Given the description of an element on the screen output the (x, y) to click on. 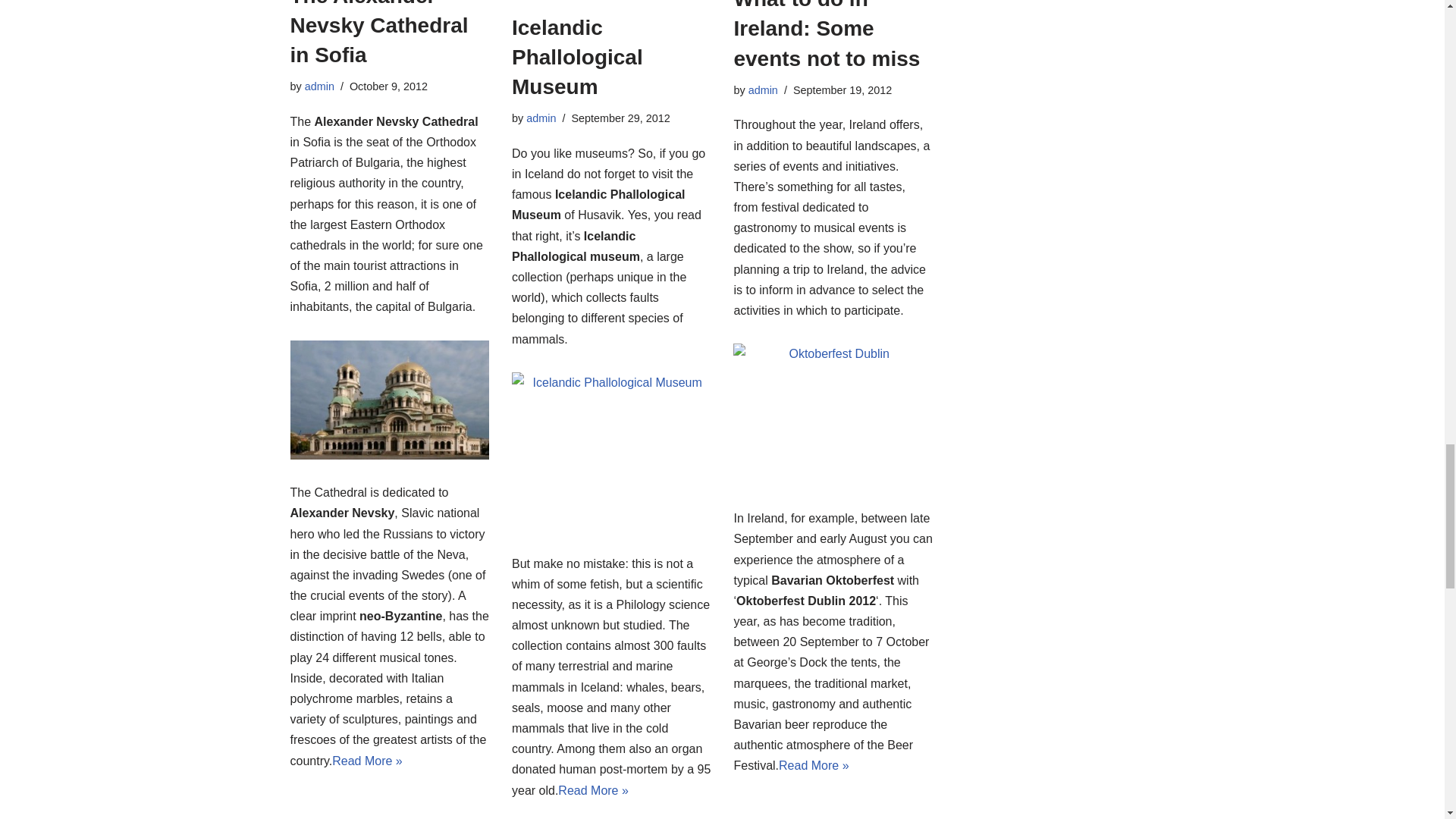
Posts by admin (762, 90)
admin (319, 86)
admin (540, 118)
The Alexander Nevsky Cathedral in Sofia (378, 33)
What to do in Ireland: Some events not to miss (826, 34)
Alexander Nevsky Cathedral (388, 399)
Posts by admin (319, 86)
Icelandic Phallological Museum (577, 56)
Posts by admin (540, 118)
Oktoberfest Dublin (832, 414)
Icelandic Phallological Museum (611, 451)
admin (762, 90)
